Given the description of an element on the screen output the (x, y) to click on. 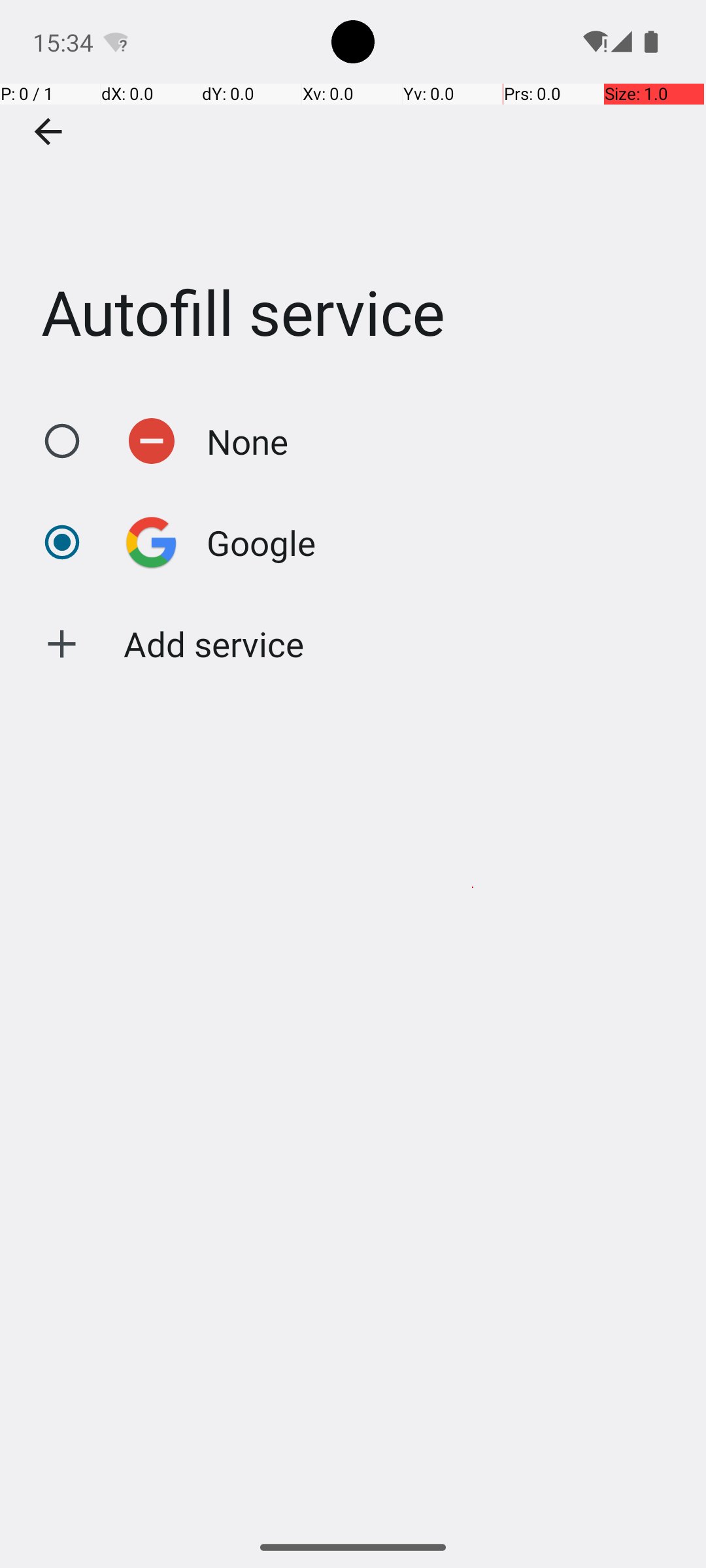
Autofill service Element type: android.widget.FrameLayout (353, 195)
Add service Element type: android.widget.TextView (213, 643)
